Given the description of an element on the screen output the (x, y) to click on. 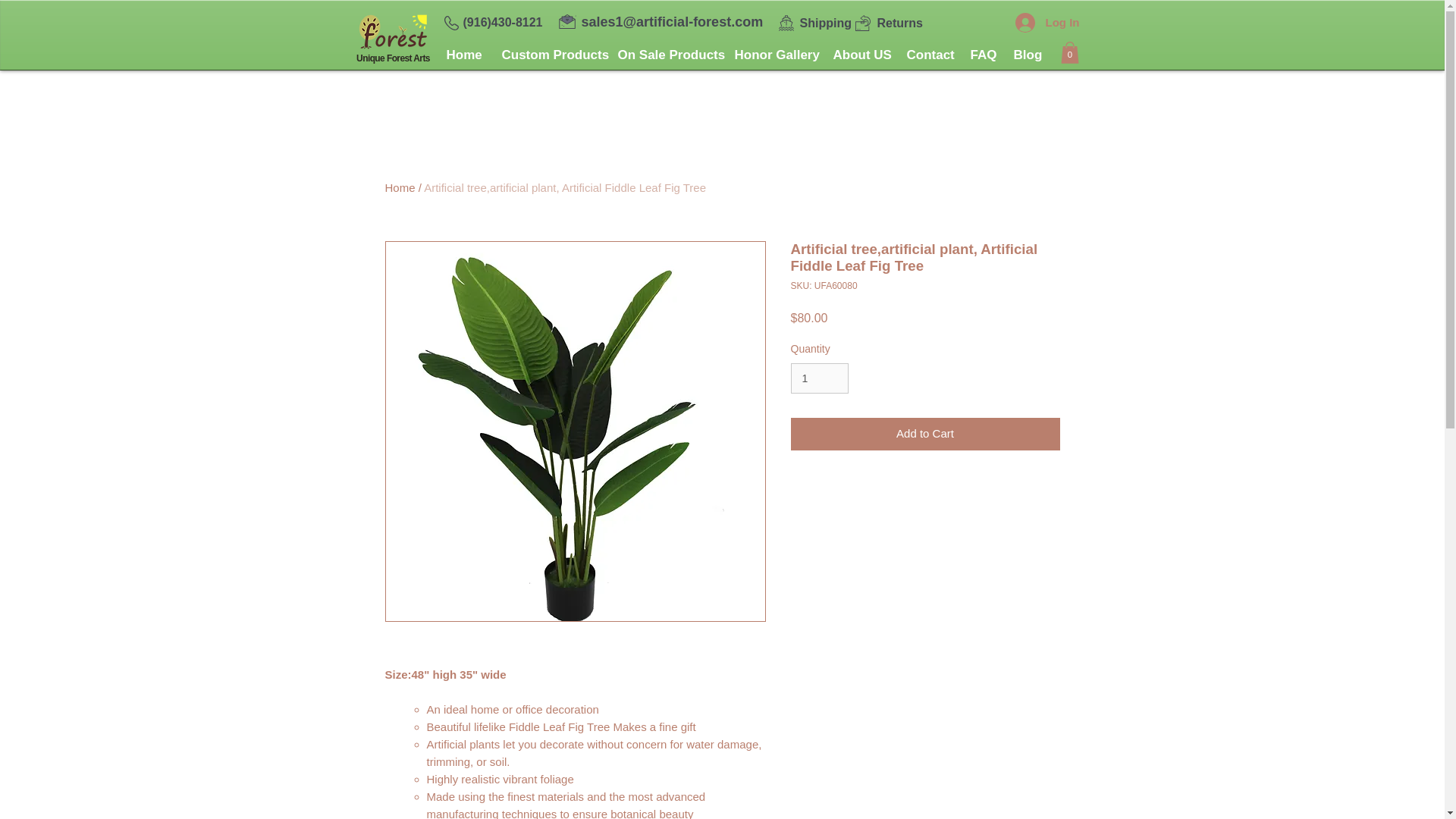
Log In (1046, 21)
Returns (898, 22)
Home (462, 55)
Shipping (824, 22)
1 (818, 378)
